Given the description of an element on the screen output the (x, y) to click on. 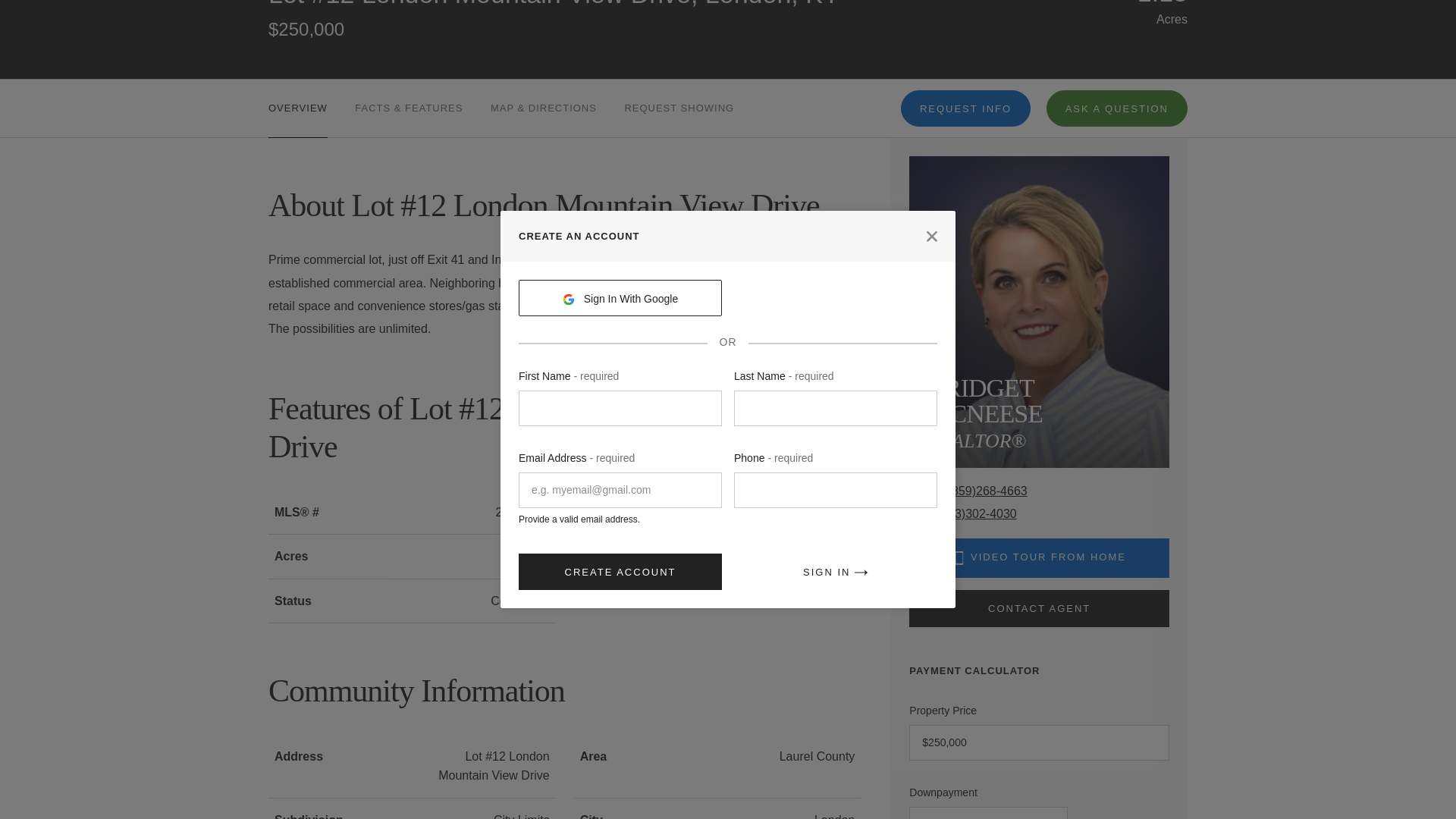
MOBILE ICON (959, 558)
